Given the description of an element on the screen output the (x, y) to click on. 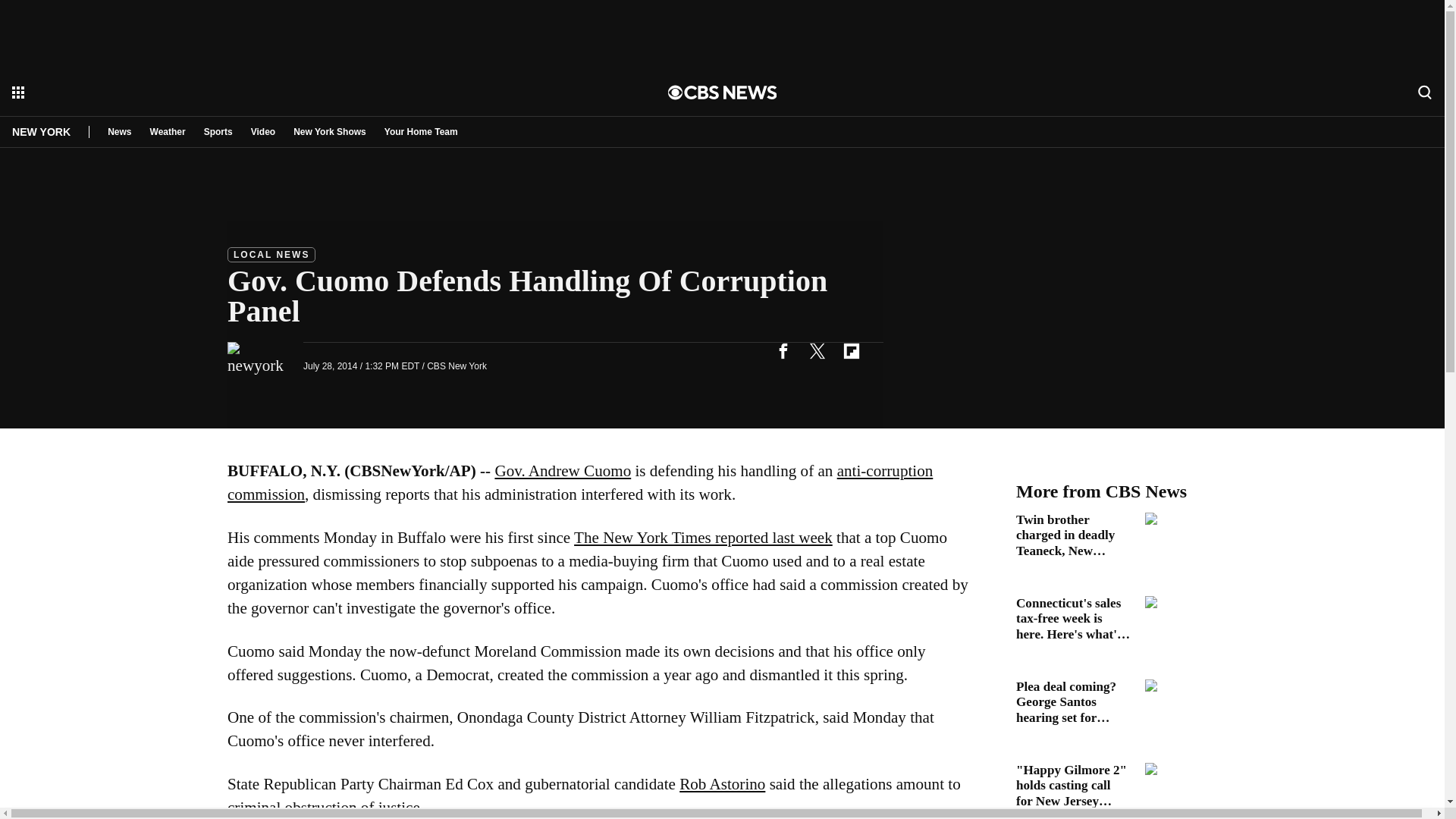
twitter (816, 350)
flipboard (850, 350)
facebook (782, 350)
